Given the description of an element on the screen output the (x, y) to click on. 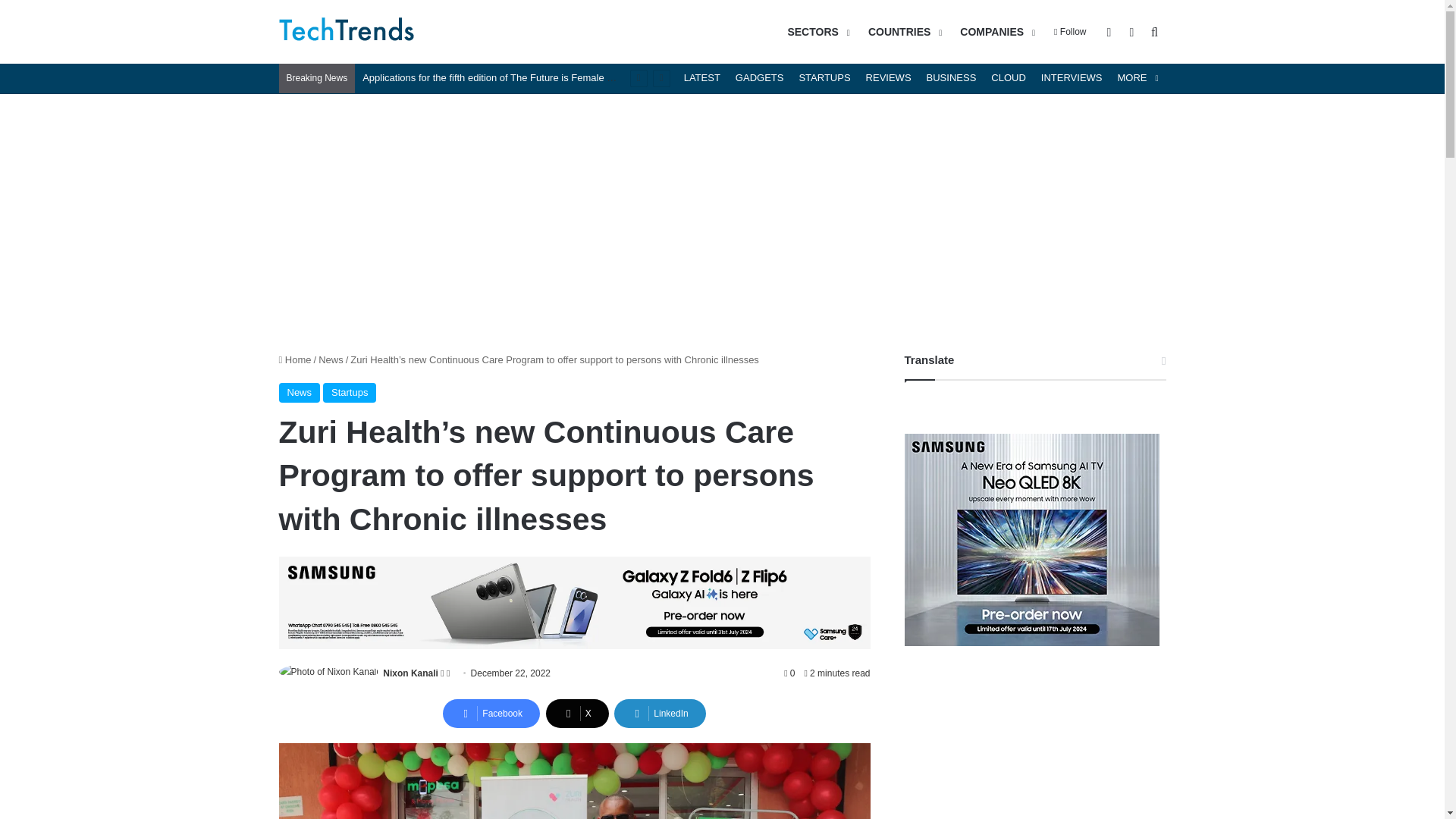
COMPANIES (995, 31)
TechTrendsKE (346, 31)
Facebook (491, 713)
LinkedIn (659, 713)
Nixon Kanali (410, 673)
X (577, 713)
SECTORS (816, 31)
COUNTRIES (903, 31)
